Given the description of an element on the screen output the (x, y) to click on. 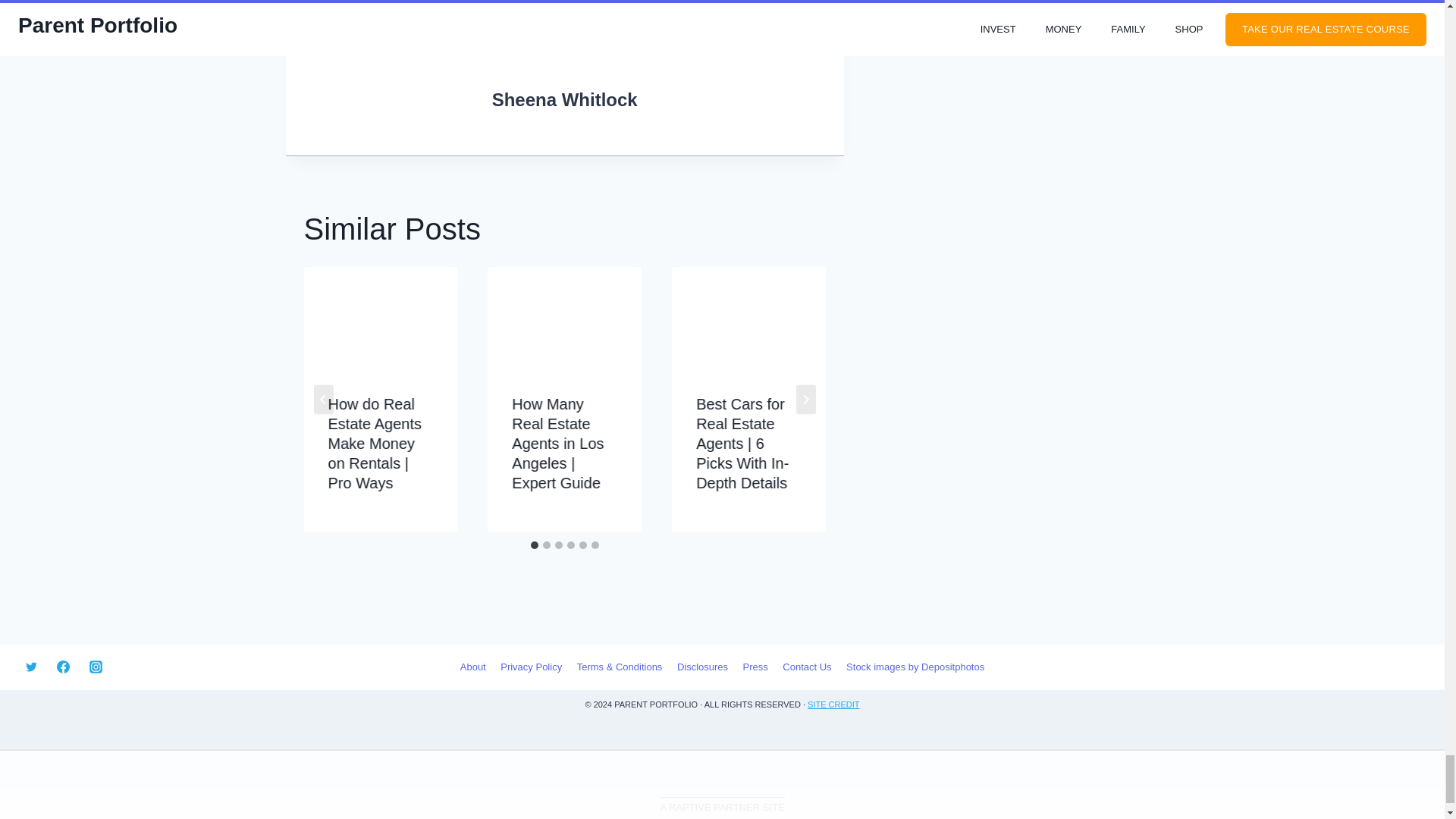
Posts by Sheena Whitlock (564, 99)
Sheena Whitlock (564, 99)
